Given the description of an element on the screen output the (x, y) to click on. 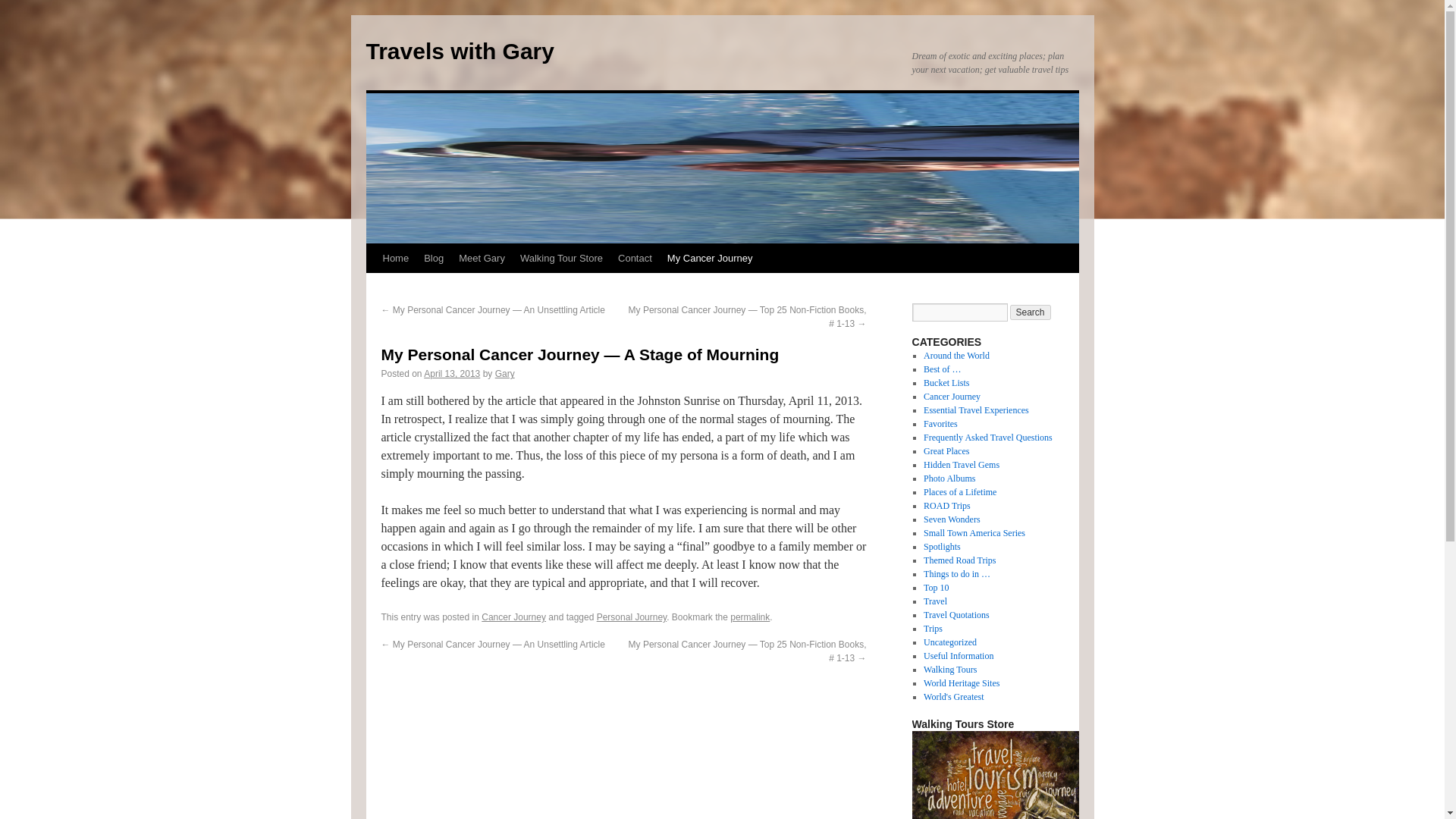
Frequently Asked Travel Questions (987, 437)
Photo Albums (949, 478)
Hidden Travel Gems (960, 464)
My Cancer Journey (709, 258)
Spotlights (941, 546)
Travels with Gary (459, 50)
Uncategorized (949, 642)
Attractions beyond the typical (960, 464)
Personal Journey (631, 616)
1:08 pm (451, 373)
